Given the description of an element on the screen output the (x, y) to click on. 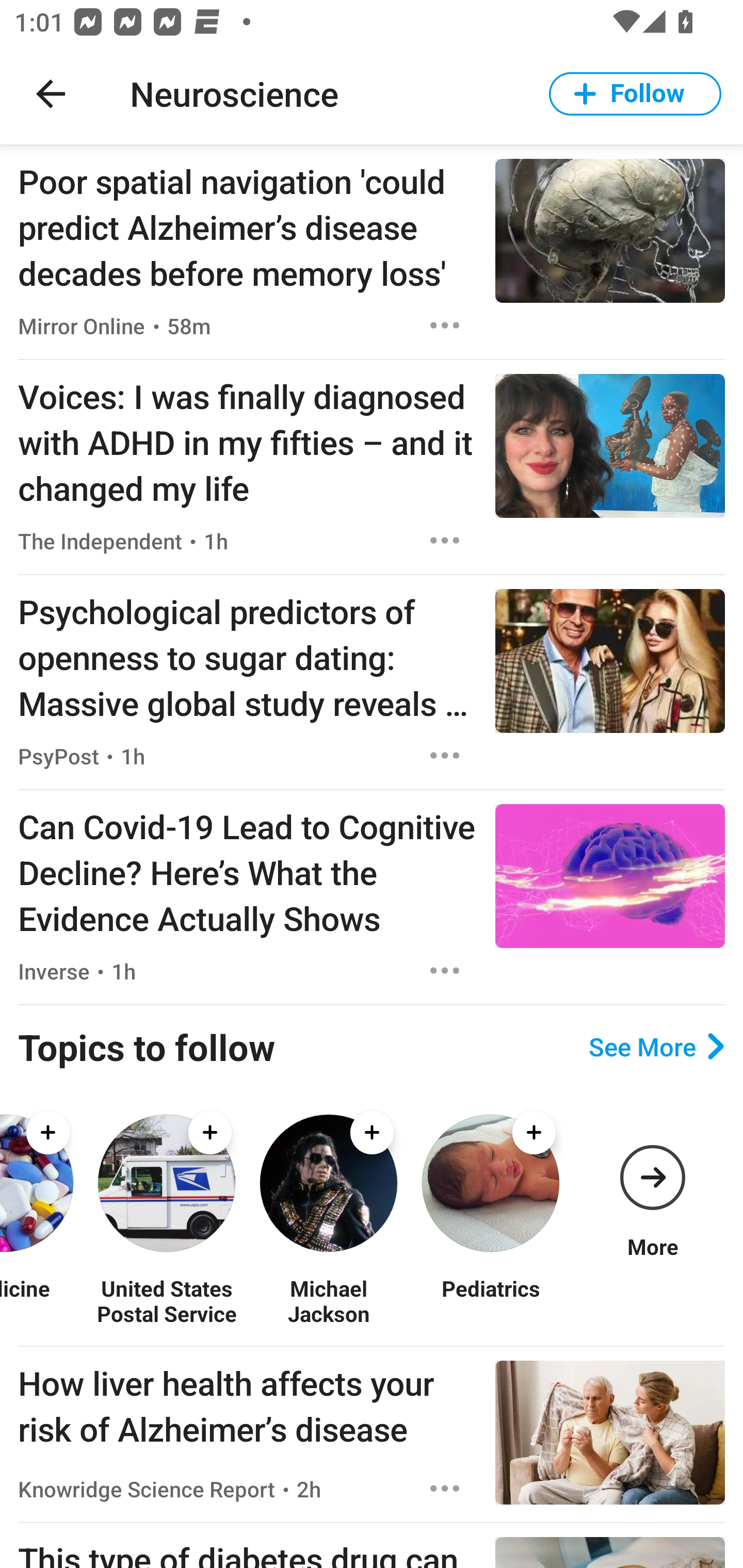
Navigate up (50, 93)
Follow (635, 94)
Options (444, 325)
Options (444, 540)
Options (444, 755)
Options (444, 970)
See More (656, 1046)
More (652, 1182)
United States Postal Service (166, 1300)
Michael Jackson (328, 1300)
Pediatrics (490, 1300)
Options (444, 1488)
